Given the description of an element on the screen output the (x, y) to click on. 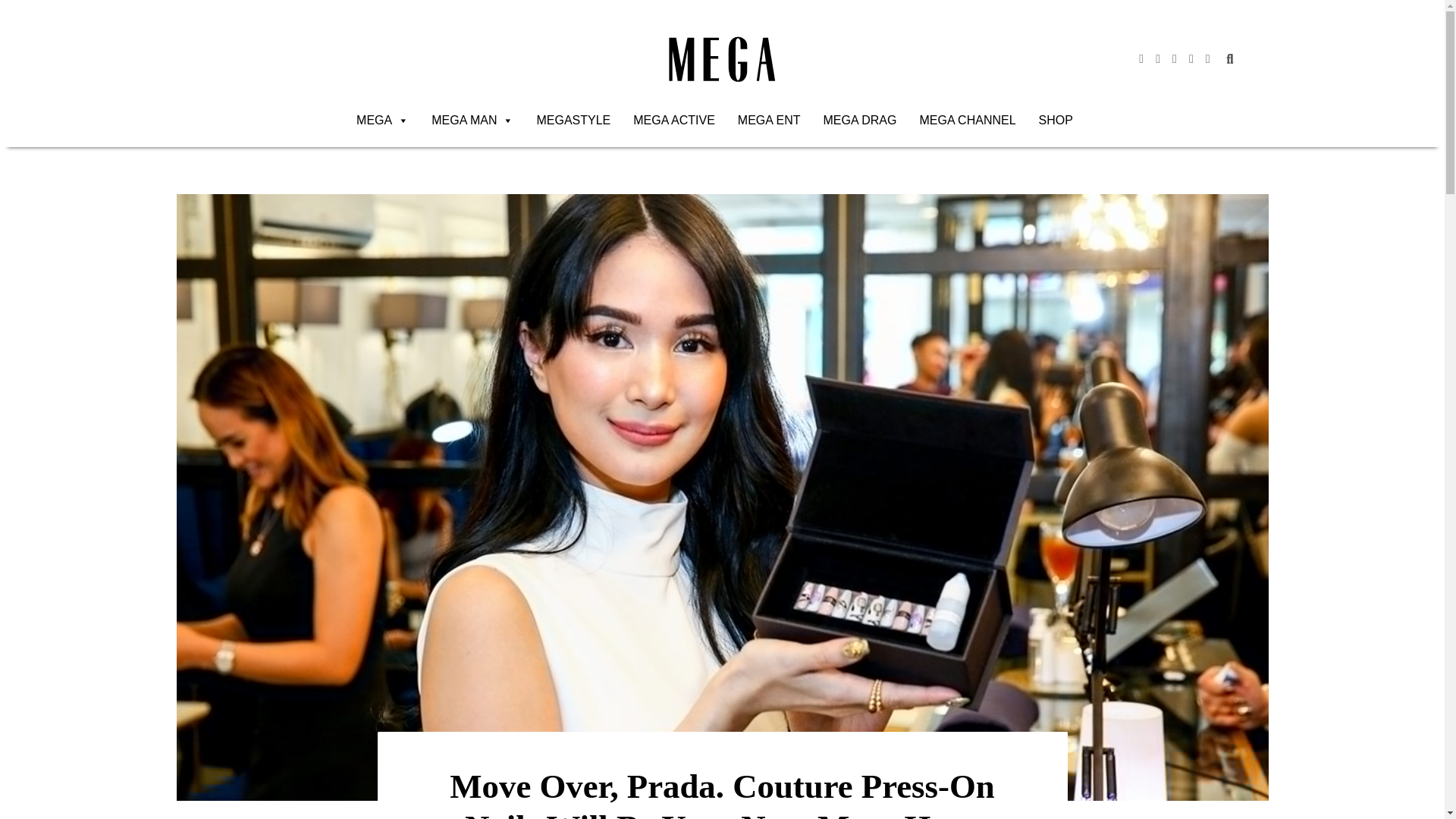
MEGA CHANNEL (967, 120)
MEGA ENT (769, 120)
MEGA MAN (472, 120)
MEGA ACTIVE (673, 120)
MEGA DRAG (860, 120)
MEGA (382, 120)
MEGASTYLE (573, 120)
